Given the description of an element on the screen output the (x, y) to click on. 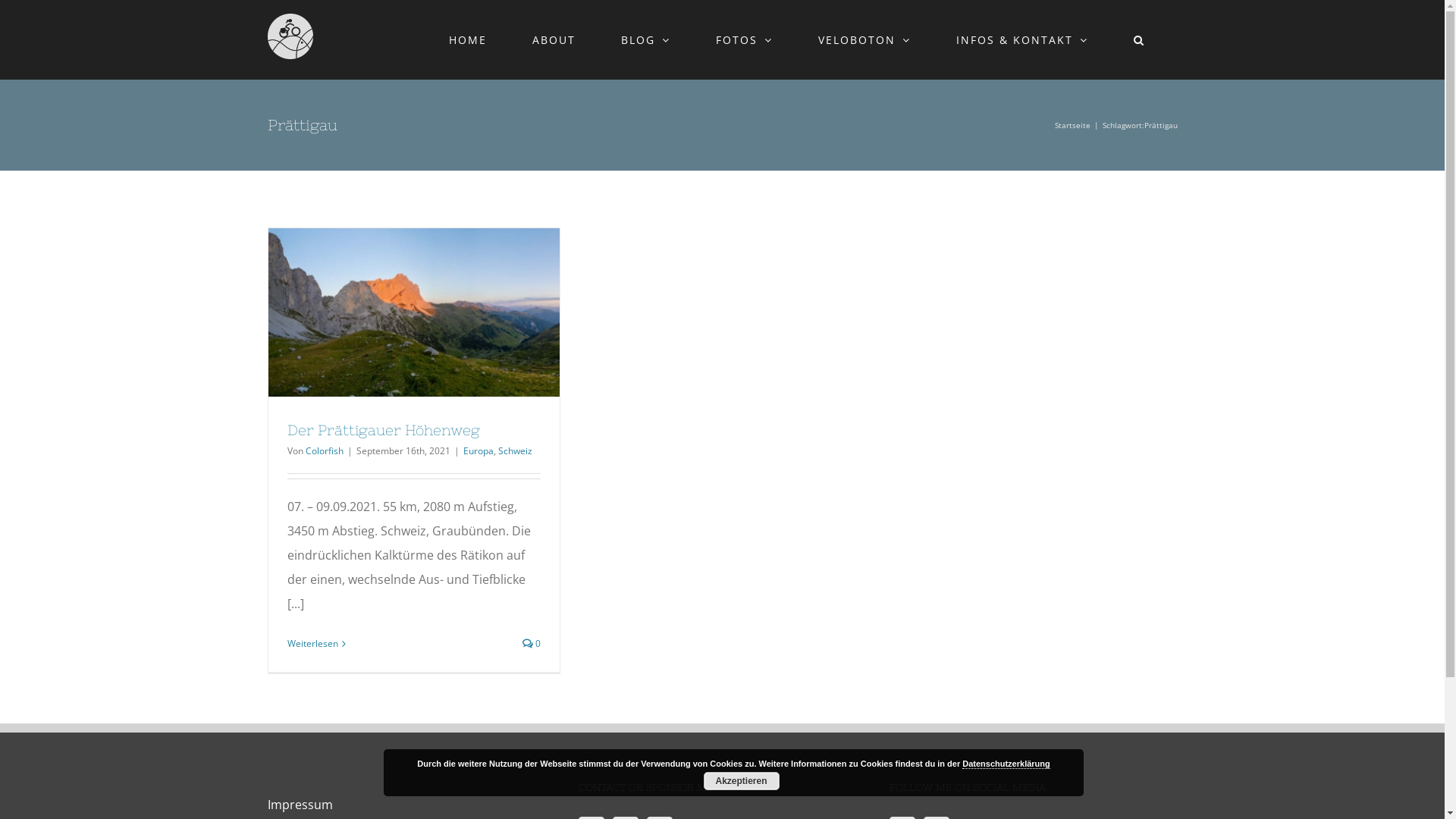
VELOBOTON Element type: text (864, 40)
Suche Element type: hover (1139, 40)
Akzeptieren Element type: text (741, 780)
Impressum Element type: text (299, 804)
ABOUT Element type: text (553, 40)
Schweiz Element type: text (514, 450)
FOTOS Element type: text (743, 40)
INFOS & KONTAKT Element type: text (1022, 40)
Startseite Element type: text (1071, 124)
BLOG Element type: text (646, 40)
 0 Element type: text (531, 643)
Weiterlesen Element type: text (311, 643)
Europa Element type: text (477, 450)
HOME Element type: text (467, 40)
Colorfish Element type: text (323, 450)
